Given the description of an element on the screen output the (x, y) to click on. 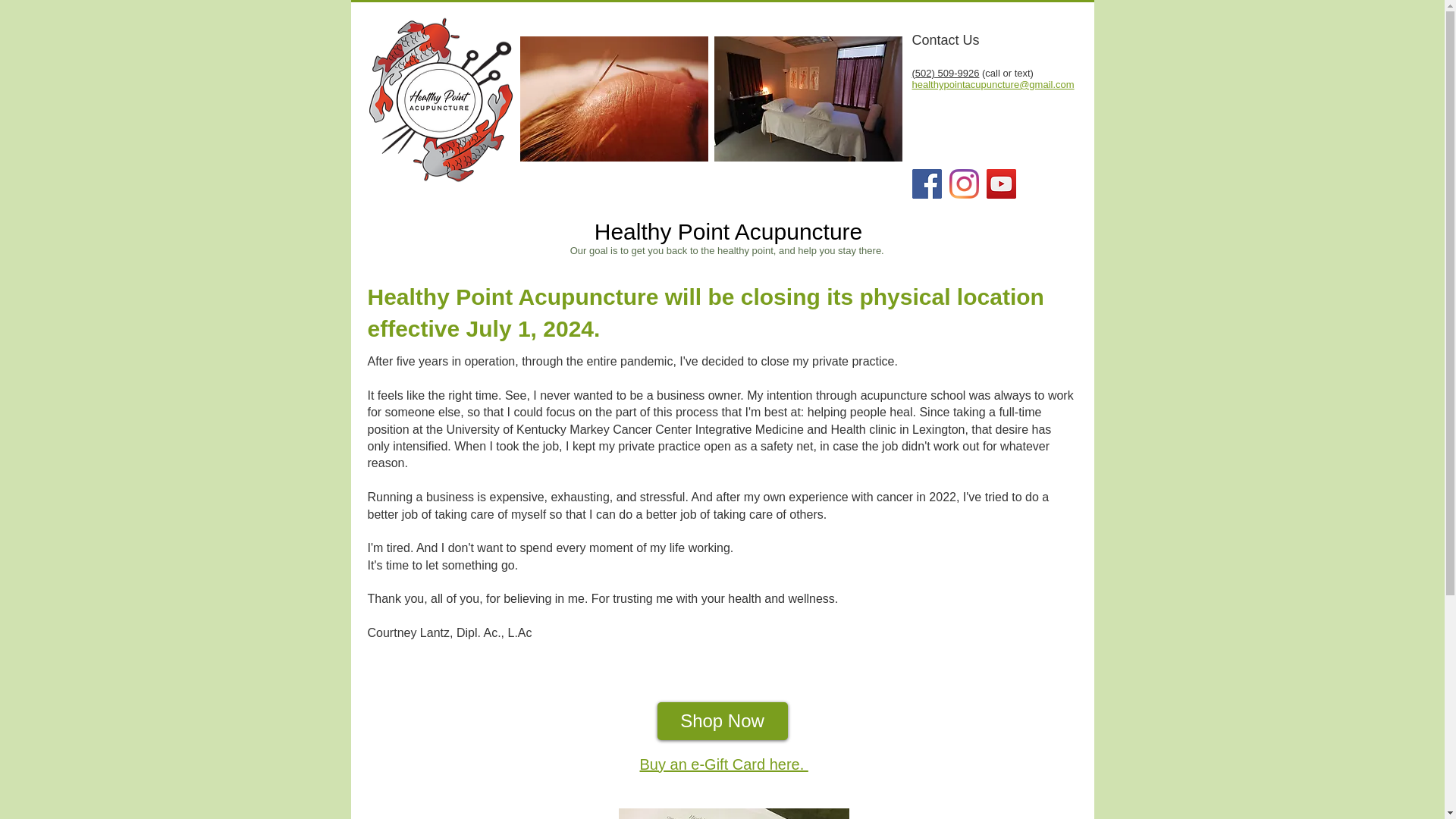
Shop Now (721, 720)
Buy an e-Gift Card here.  (724, 764)
Gift Certificates.jpg (733, 813)
